Given the description of an element on the screen output the (x, y) to click on. 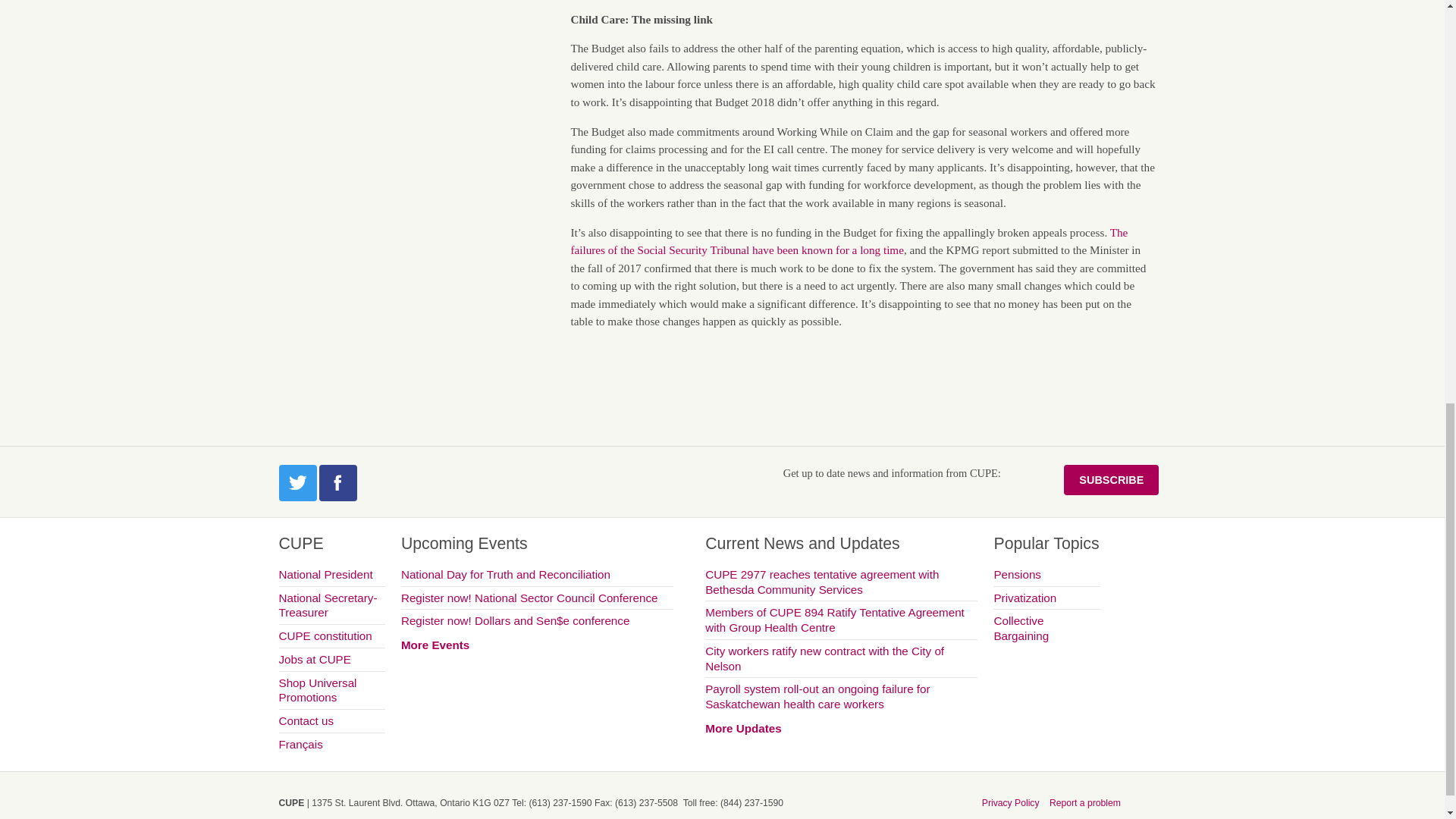
Facebook (337, 483)
Visit our facebook page. (337, 483)
Twitter (298, 483)
Visit our twitter page. (298, 483)
